Given the description of an element on the screen output the (x, y) to click on. 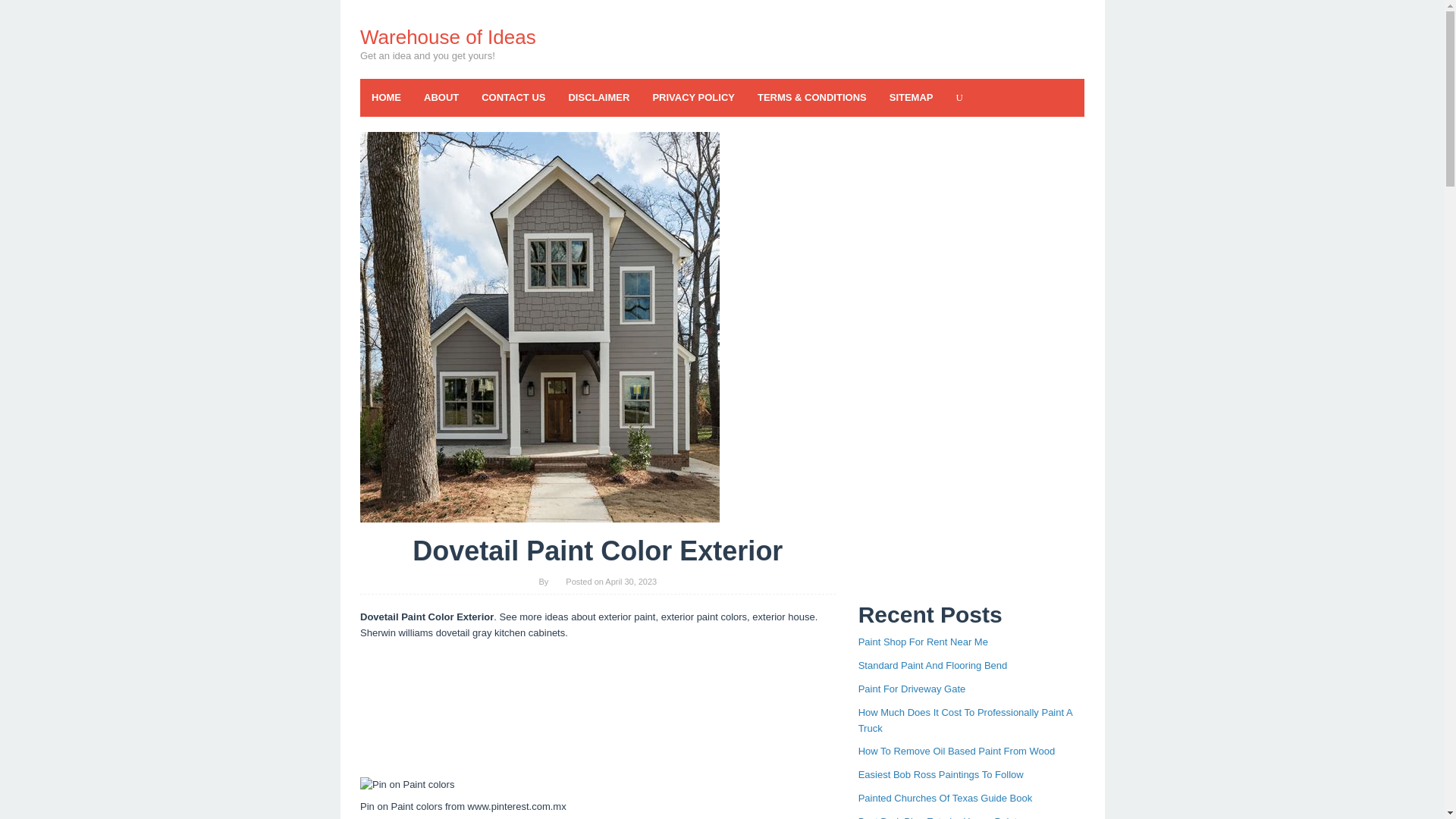
How To Remove Oil Based Paint From Wood (957, 750)
Warehouse of Ideas (447, 36)
Painted Churches Of Texas Guide Book (945, 797)
Advertisement (597, 711)
PRIVACY POLICY (692, 97)
HOME (385, 97)
DISCLAIMER (598, 97)
Standard Paint And Flooring Bend (933, 665)
Easiest Bob Ross Paintings To Follow (941, 774)
Best Dark Blue Exterior House Paint (938, 817)
